Given the description of an element on the screen output the (x, y) to click on. 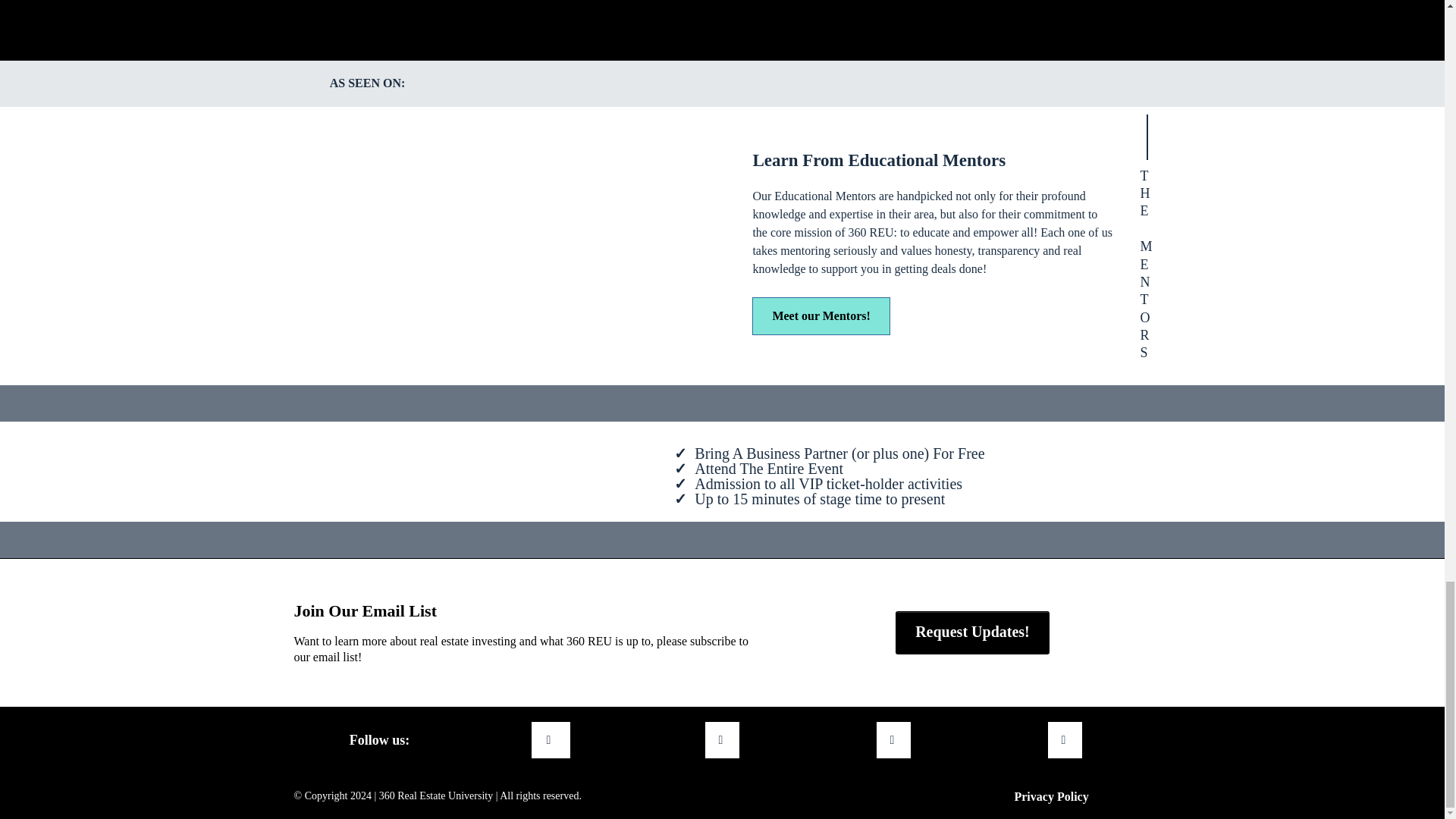
Request Updates! (972, 632)
Meet our Mentors! (820, 315)
Privacy Policy (1051, 796)
